Given the description of an element on the screen output the (x, y) to click on. 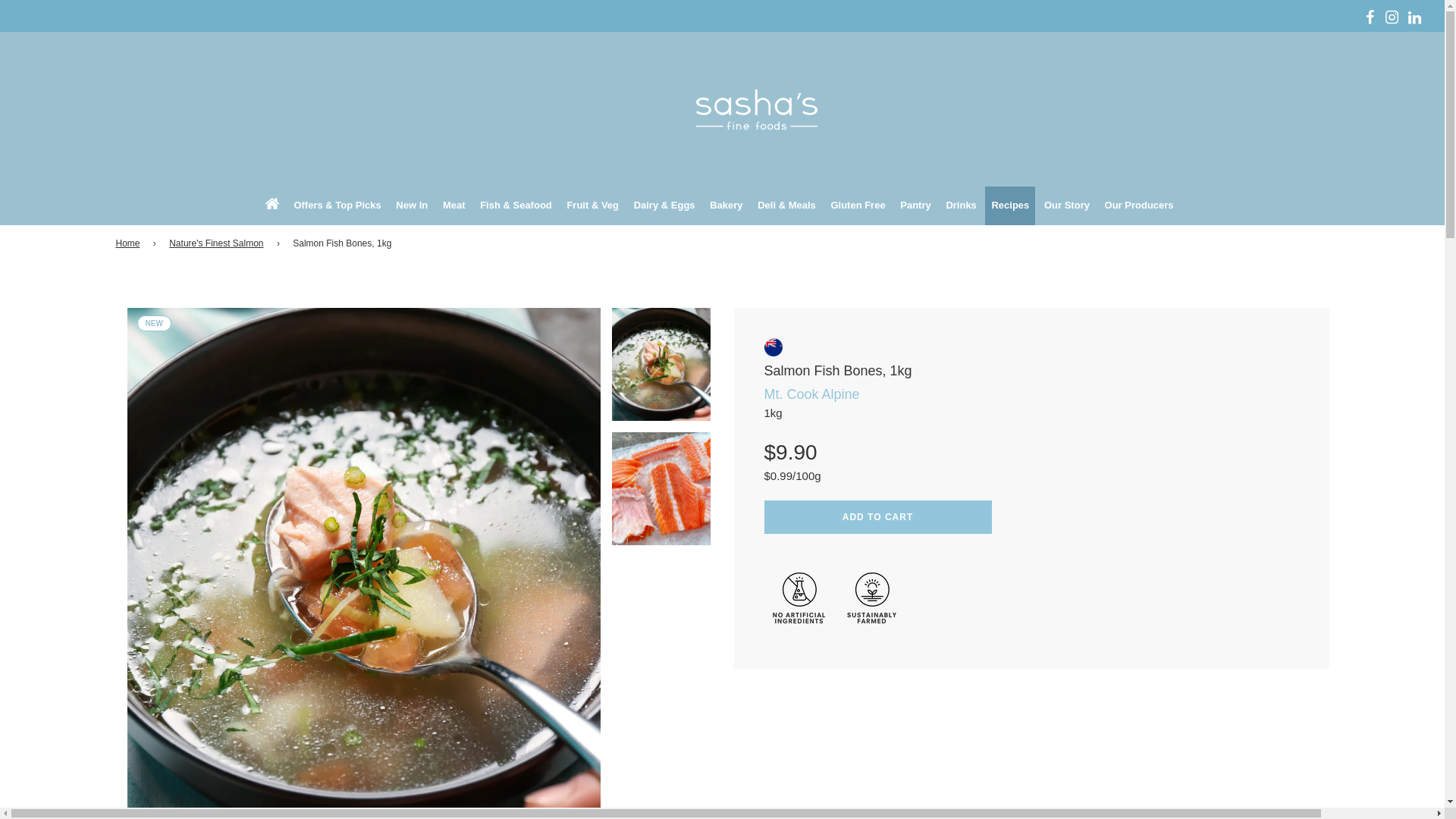
Back to the frontpage (129, 243)
Mt. Cook Alpine (812, 394)
New Zealand (773, 347)
